Given the description of an element on the screen output the (x, y) to click on. 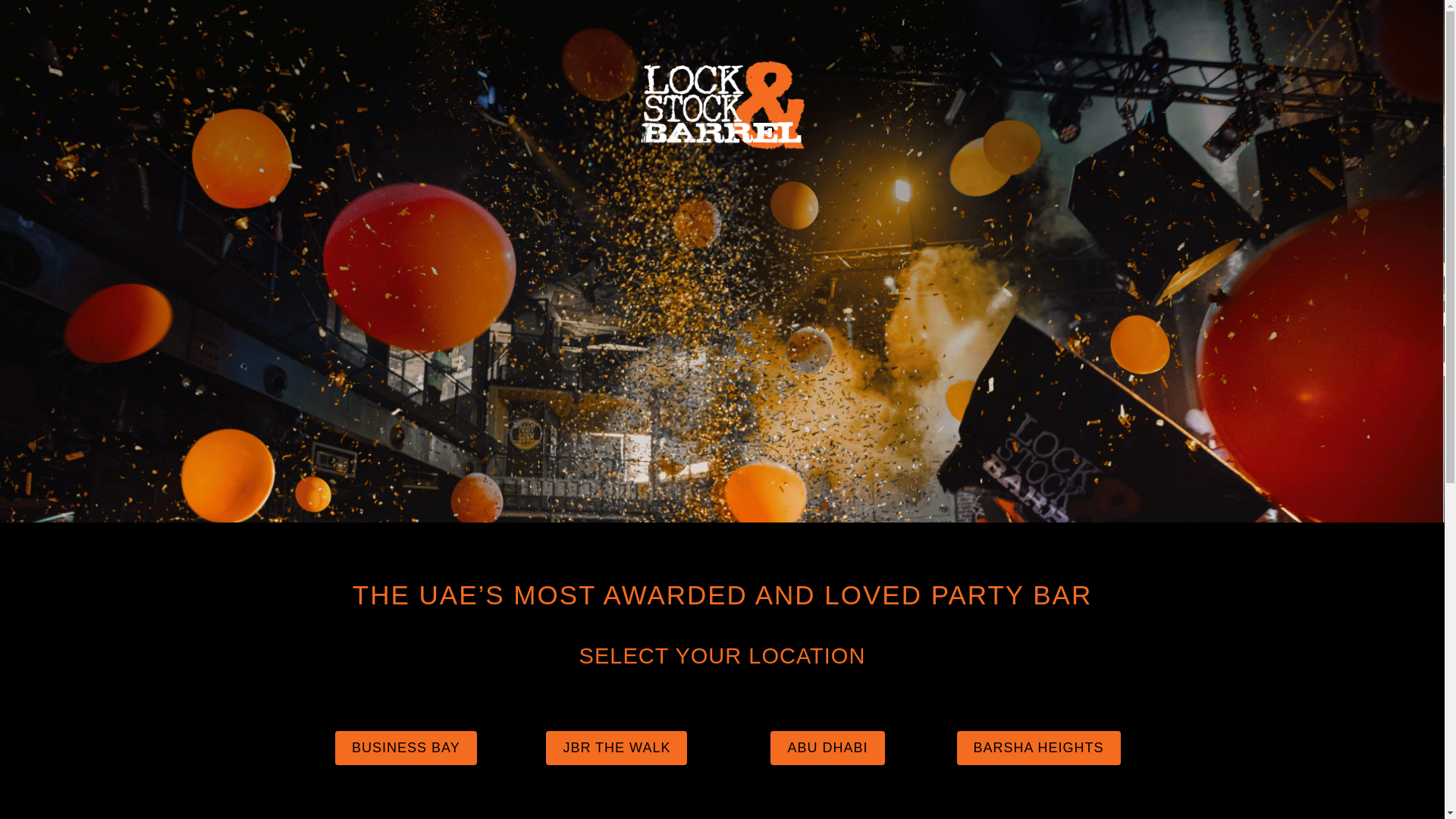
BARSHA HEIGHTS (1038, 747)
BUSINESS BAY (405, 747)
ABU DHABI (826, 747)
JBR THE WALK (616, 747)
